Given the description of an element on the screen output the (x, y) to click on. 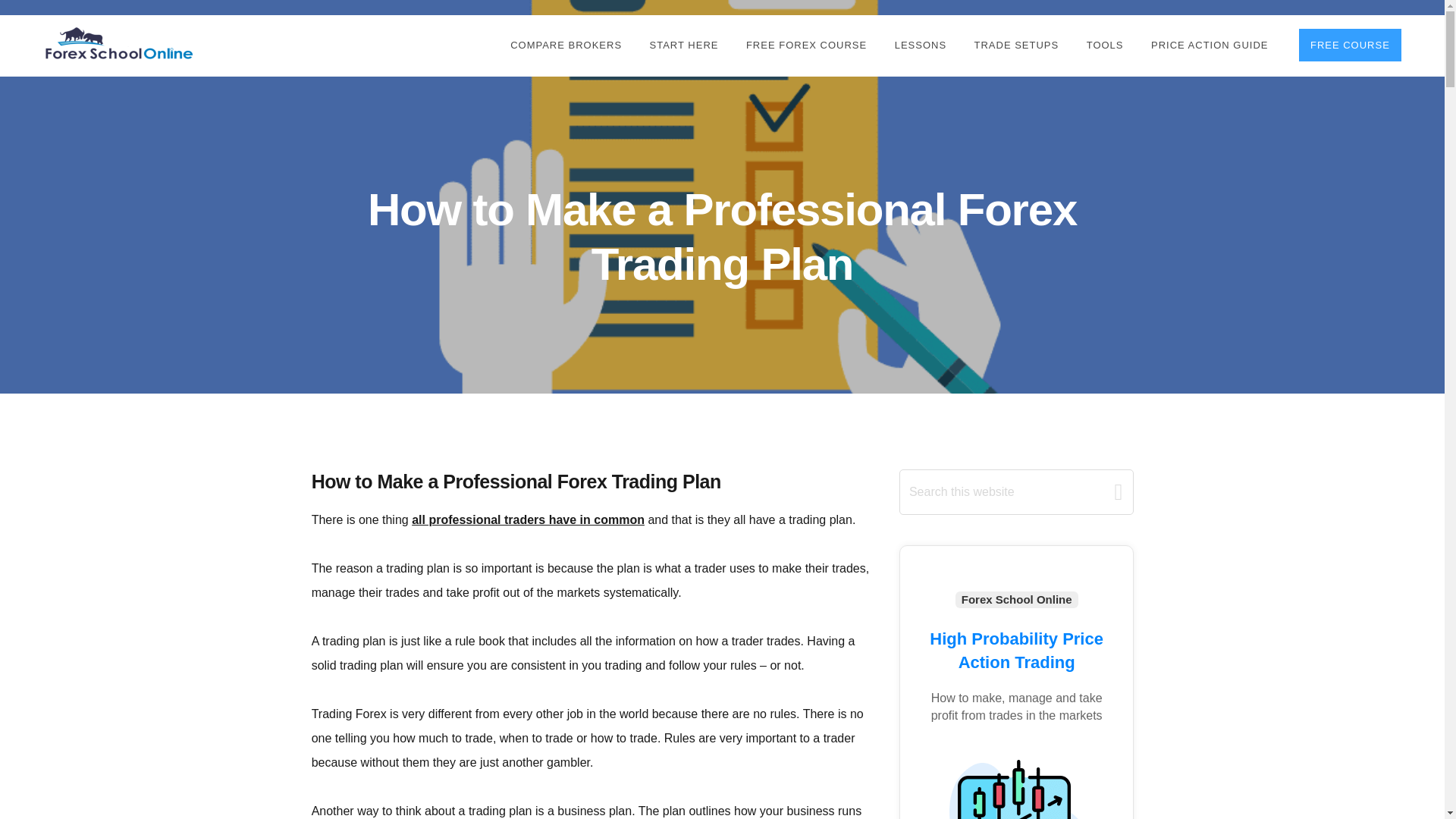
COMPARE BROKERS (566, 44)
ForexSchoolOnline.com (119, 43)
